Given the description of an element on the screen output the (x, y) to click on. 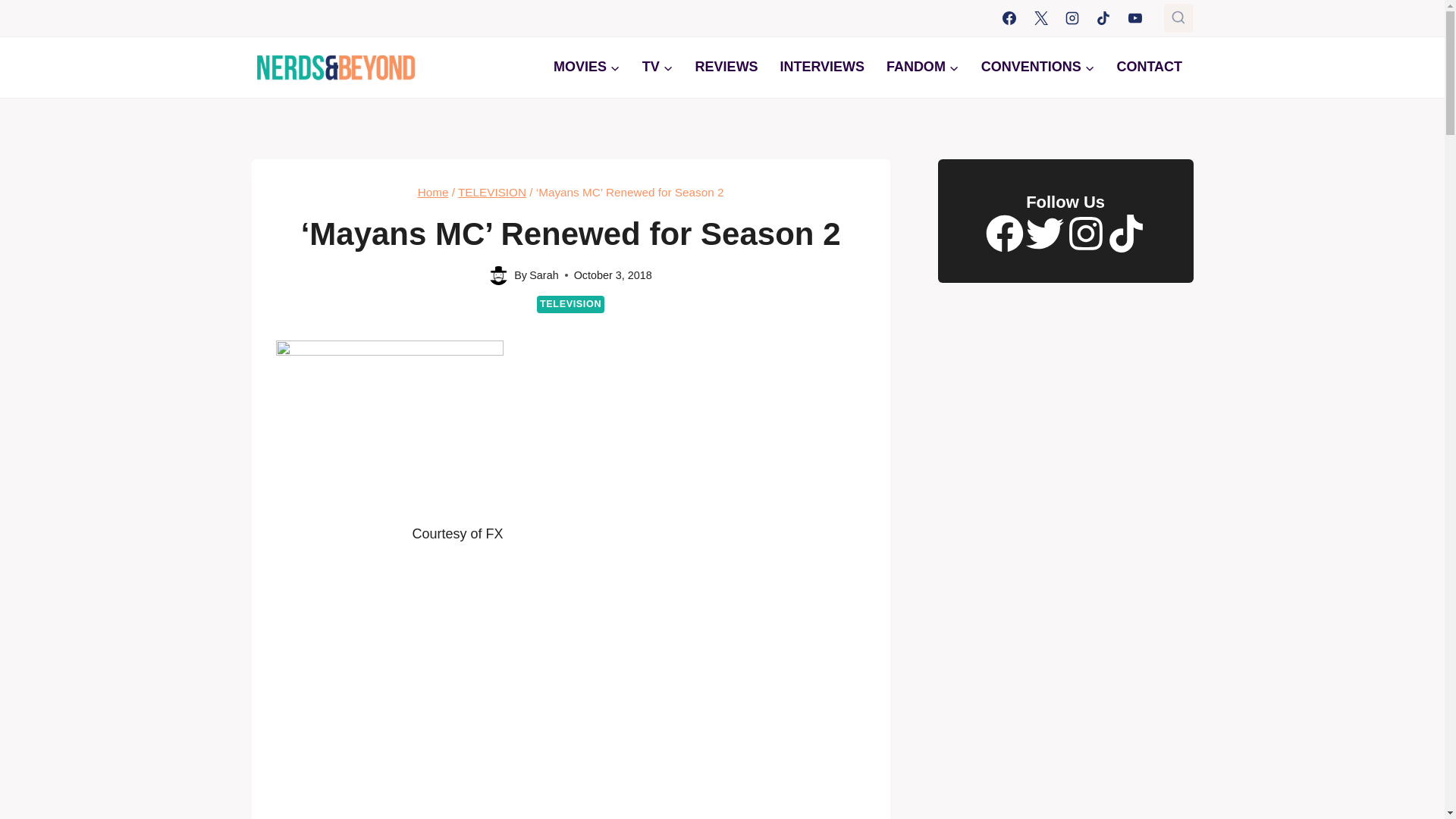
MOVIES (587, 66)
TV (657, 66)
